Given the description of an element on the screen output the (x, y) to click on. 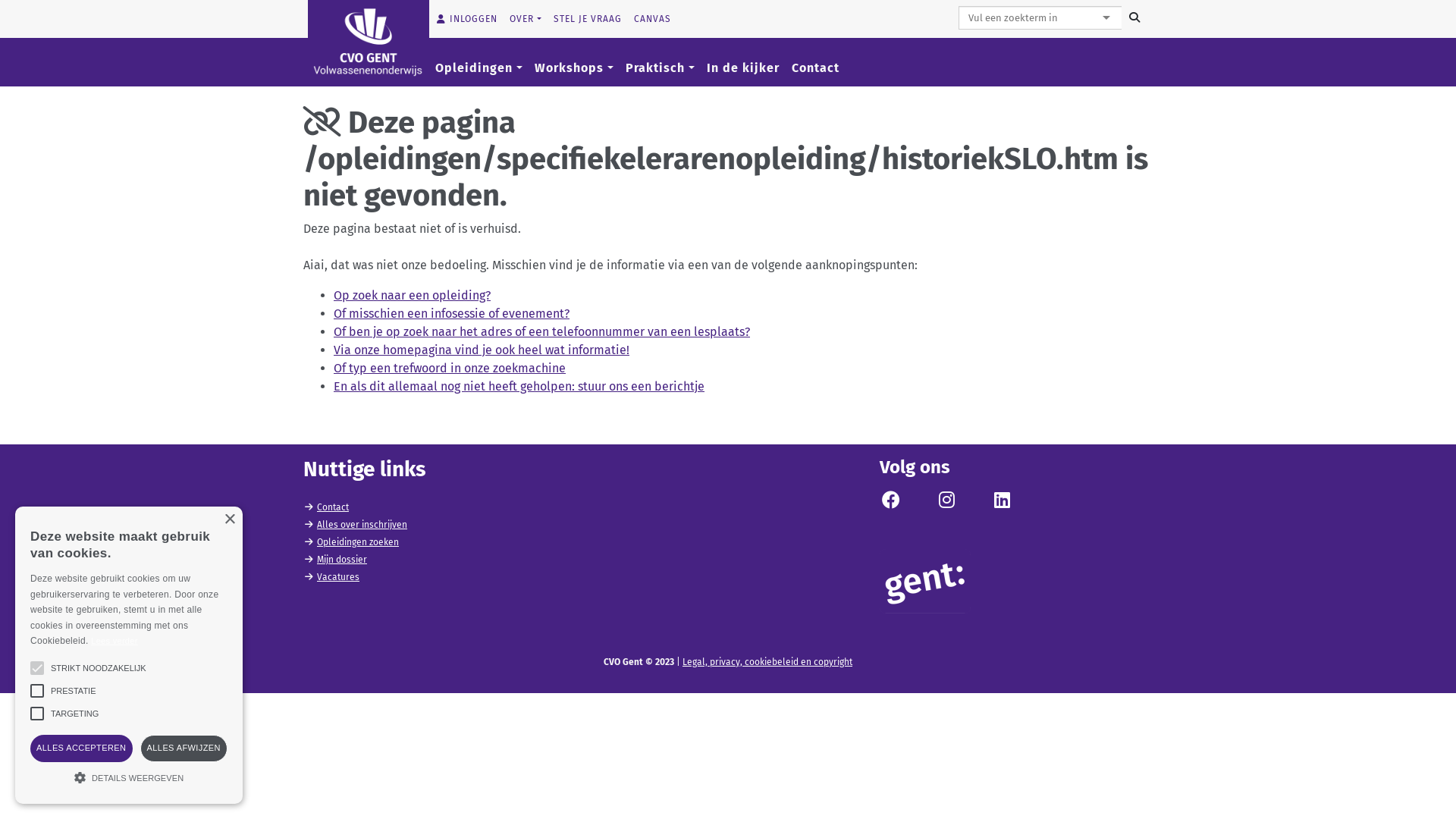
Of typ een trefwoord in onze zoekmachine Element type: text (449, 367)
Opleidingen Element type: text (478, 68)
Praktisch Element type: text (659, 68)
Workshops Element type: text (573, 68)
CVO Gent op facebook Element type: hover (890, 503)
INLOGGEN Element type: text (466, 18)
Mijn dossier Element type: text (341, 559)
Vacatures Element type: text (337, 576)
Opleidingen zoeken Element type: text (357, 541)
CANVAS Element type: text (652, 18)
Legal, privacy, cookiebeleid en copyright Element type: text (767, 661)
STEL JE VRAAG Element type: text (587, 18)
Of misschien een infosessie of evenement? Element type: text (451, 313)
Op zoek naar een opleiding? Element type: text (411, 295)
Via onze homepagina vind je ook heel wat informatie! Element type: text (481, 349)
CVO Gent Element type: hover (368, 40)
Lees verder Element type: text (114, 640)
CVO Gent op linkedin Element type: hover (1001, 503)
Contact Element type: text (332, 507)
Contact Element type: text (815, 68)
OVER Element type: text (525, 18)
Alles over inschrijven Element type: text (361, 524)
In de kijker Element type: text (742, 68)
CVO Gent op instagram Element type: hover (946, 503)
